Given the description of an element on the screen output the (x, y) to click on. 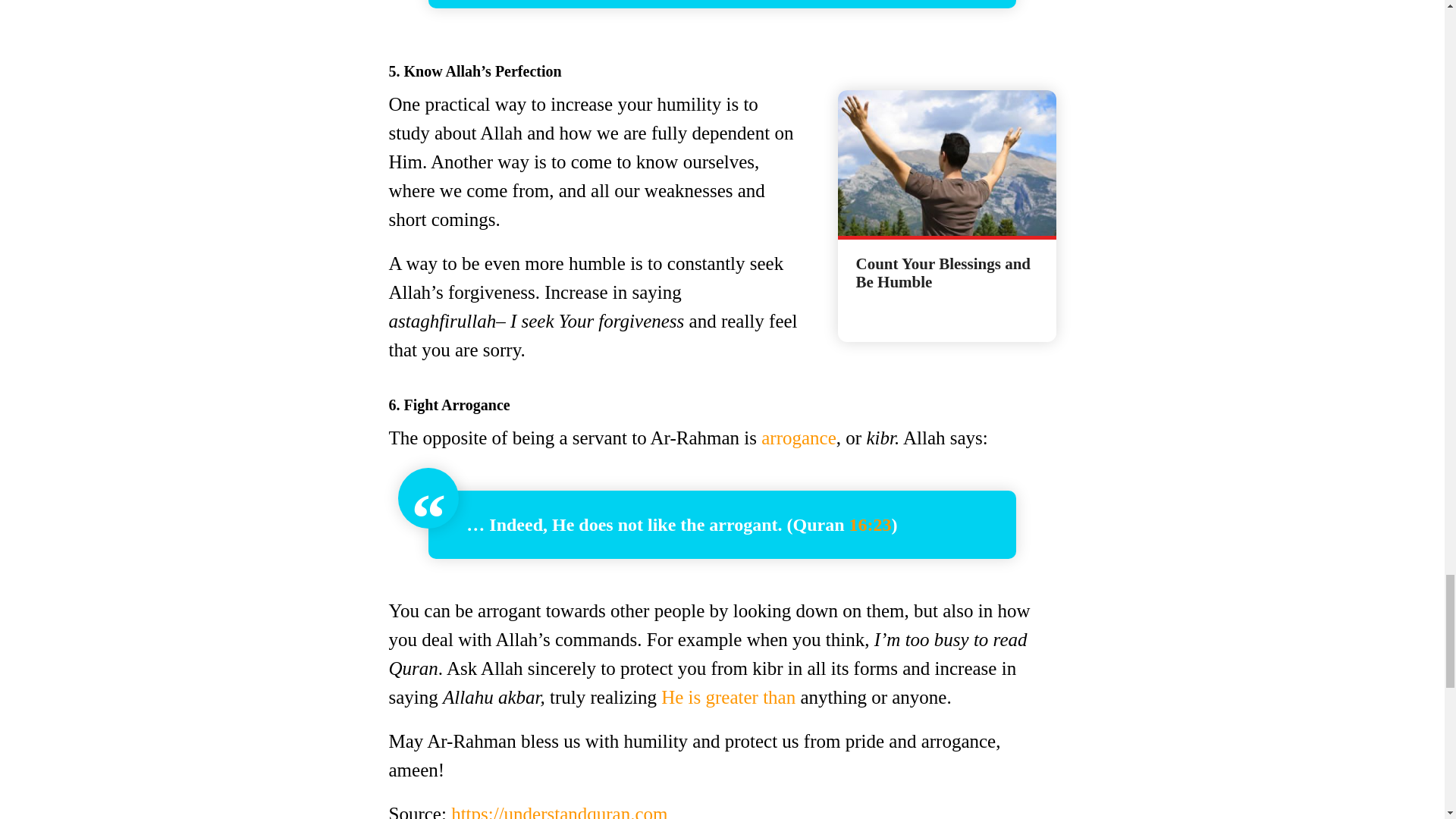
Count Your Blessings and Be Humble (946, 162)
Count Your Blessings and Be Humble (946, 277)
arrogance (798, 437)
